Given the description of an element on the screen output the (x, y) to click on. 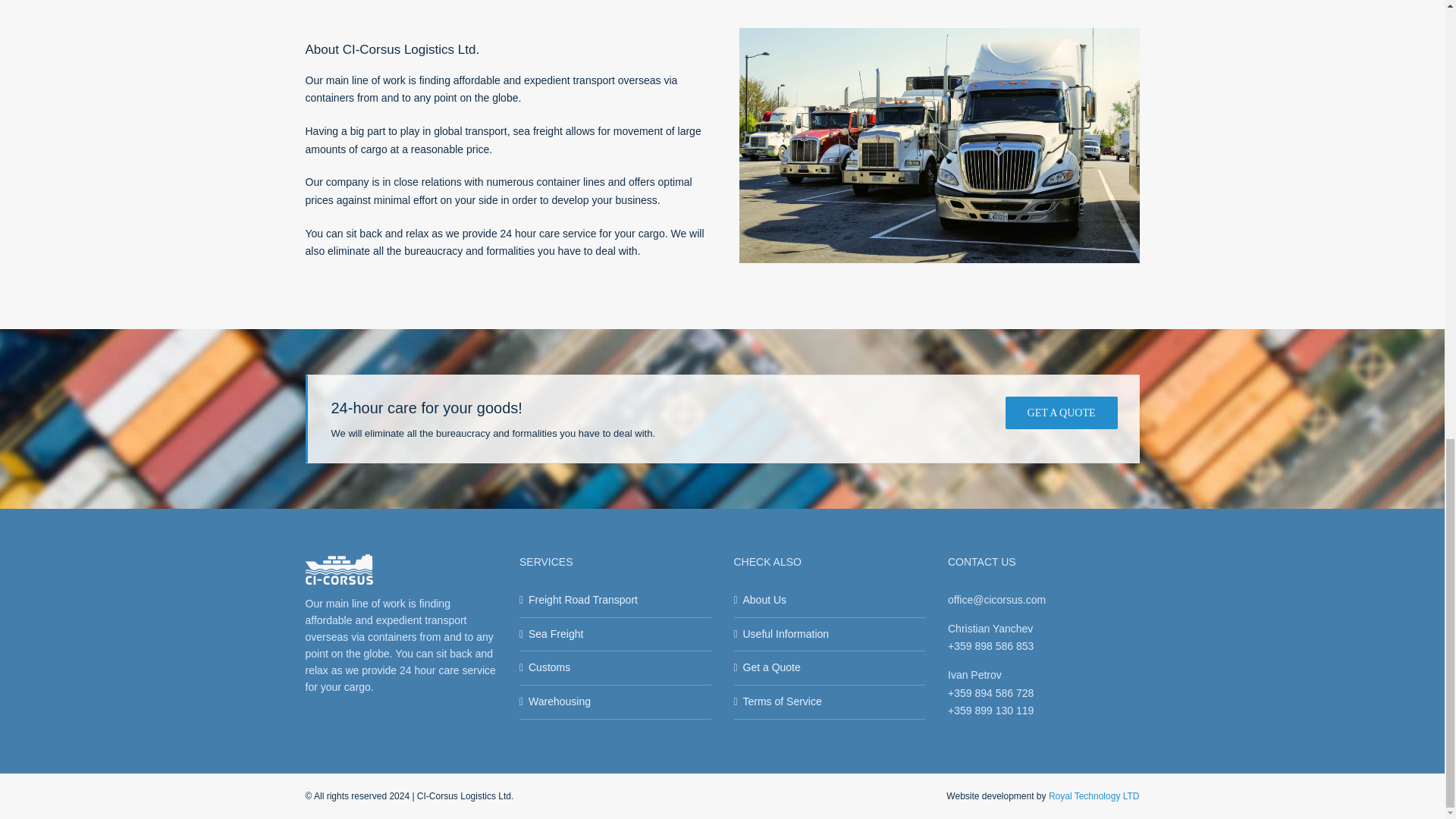
Warehousing (615, 701)
Terms of Service (830, 701)
Sea Freight (615, 634)
Royal Technology LTD (1094, 796)
Get a Quote (830, 668)
Freight Road Transport (615, 600)
About Us (830, 600)
Customs (615, 668)
GET A QUOTE (1062, 412)
Useful Information (830, 634)
